Given the description of an element on the screen output the (x, y) to click on. 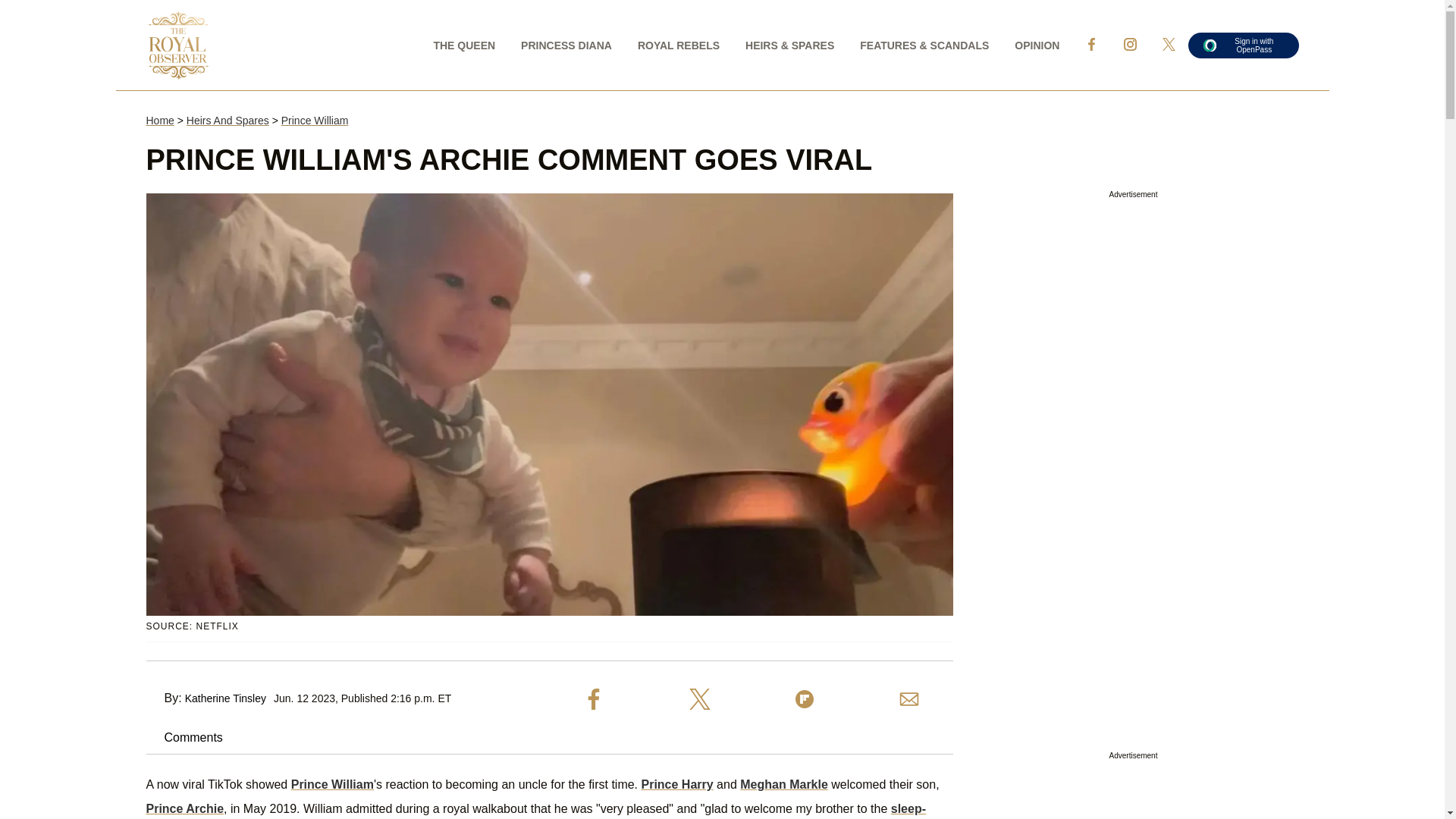
Sign in with OpenPass (1243, 44)
Prince Archie (184, 808)
LINK TO X (1169, 44)
Home (159, 120)
Prince Harry (677, 784)
PRINCESS DIANA (566, 44)
LINK TO INSTAGRAM (1130, 44)
Heirs And Spares (227, 120)
OPINION (1036, 44)
Link to Instagram (1130, 44)
LINK TO FACEBOOK (1090, 44)
THE QUEEN (464, 44)
ROYAL REBELS (678, 44)
LINK TO INSTAGRAM (1130, 43)
Link to Facebook (1090, 44)
